Given the description of an element on the screen output the (x, y) to click on. 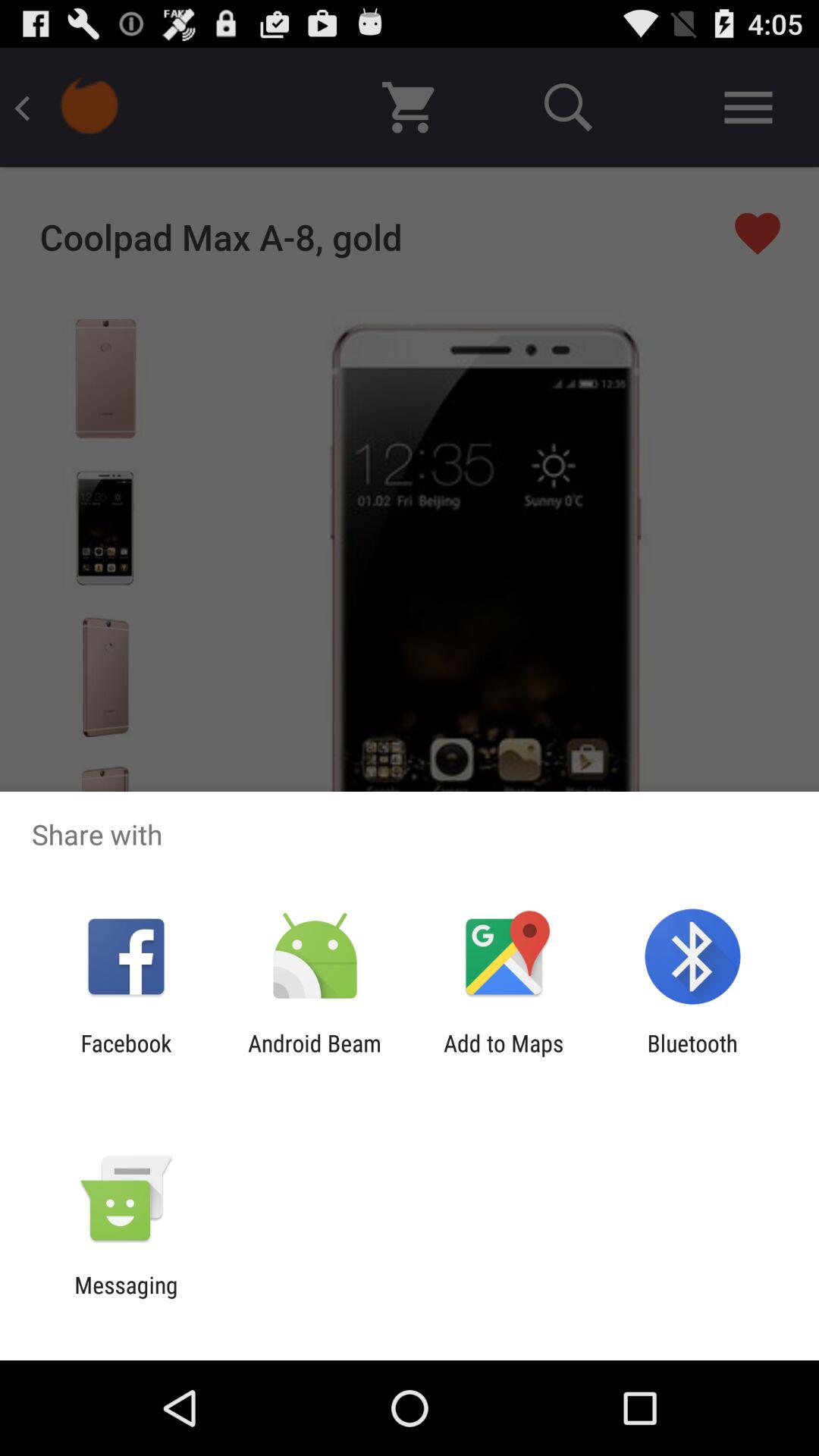
turn on android beam item (314, 1056)
